Given the description of an element on the screen output the (x, y) to click on. 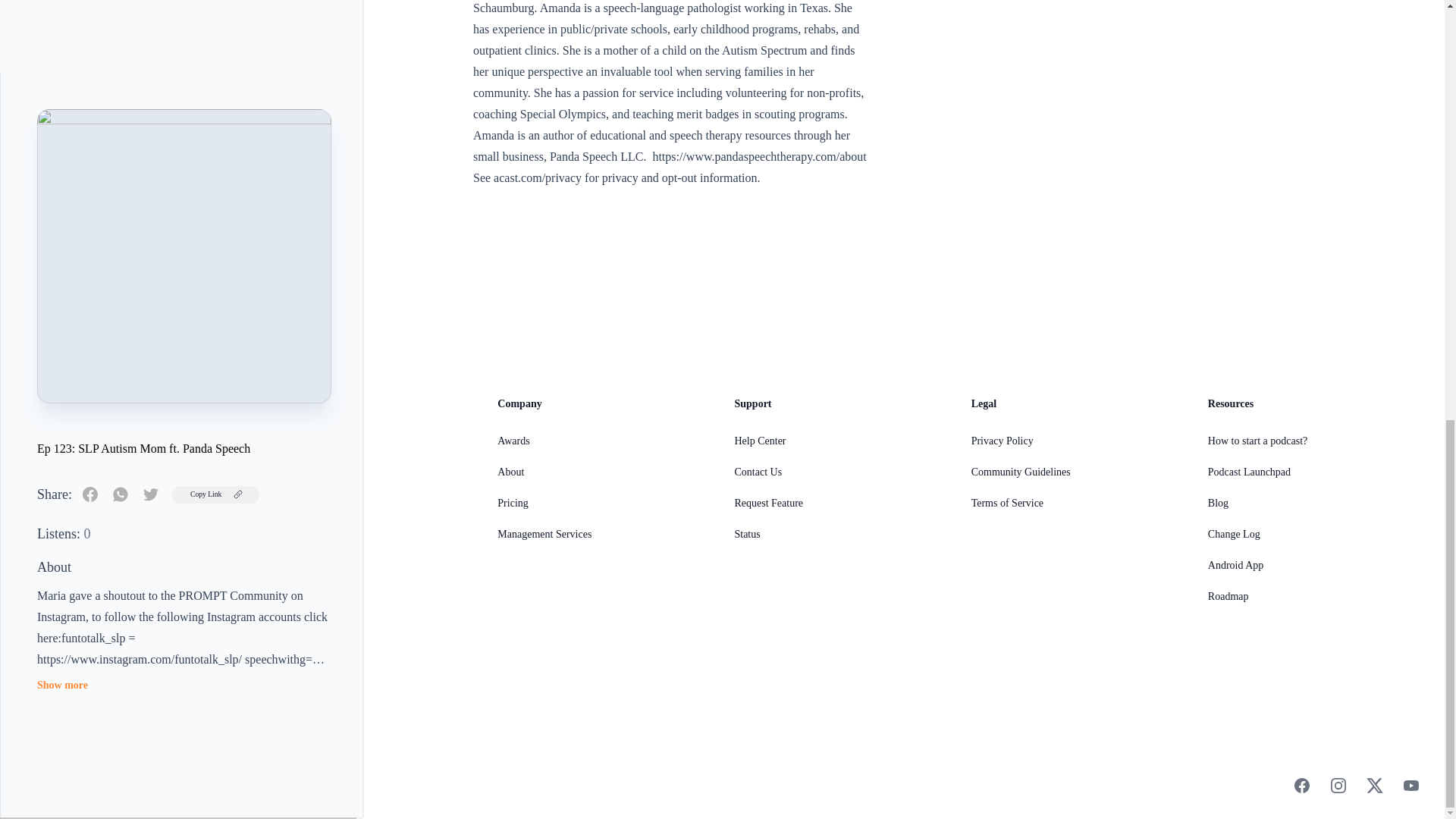
Android App (1235, 564)
Blog (1218, 502)
Status (746, 533)
Management Services (544, 533)
Twitter (1374, 785)
Terms of Service (1007, 502)
Change Log (1234, 533)
YouTube (1411, 785)
Roadmap (1228, 595)
Facebook (1301, 785)
